Given the description of an element on the screen output the (x, y) to click on. 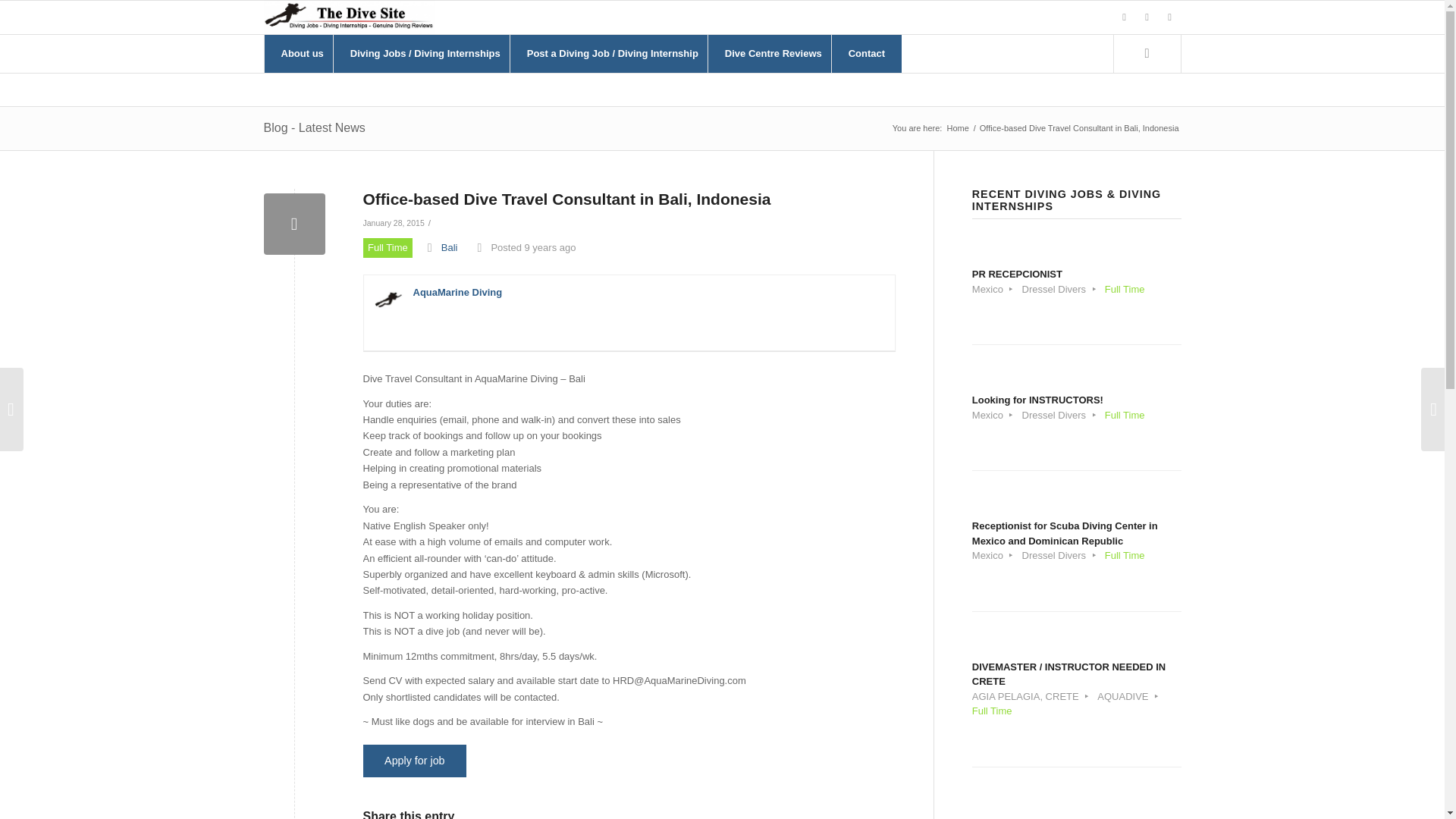
Dive Centre Reviews at The Dive Site (772, 53)
Blog - Latest News (1076, 407)
Office-based Dive Travel Consultant in Bali, Indonesia (314, 127)
Mail (1076, 281)
About us (566, 199)
Contact (1146, 16)
Apply for job (301, 53)
Facebook (866, 53)
Twitter (413, 760)
Dive Centre Reviews (1124, 16)
Contact us at The Dive Site (1169, 16)
Bali (772, 53)
